Given the description of an element on the screen output the (x, y) to click on. 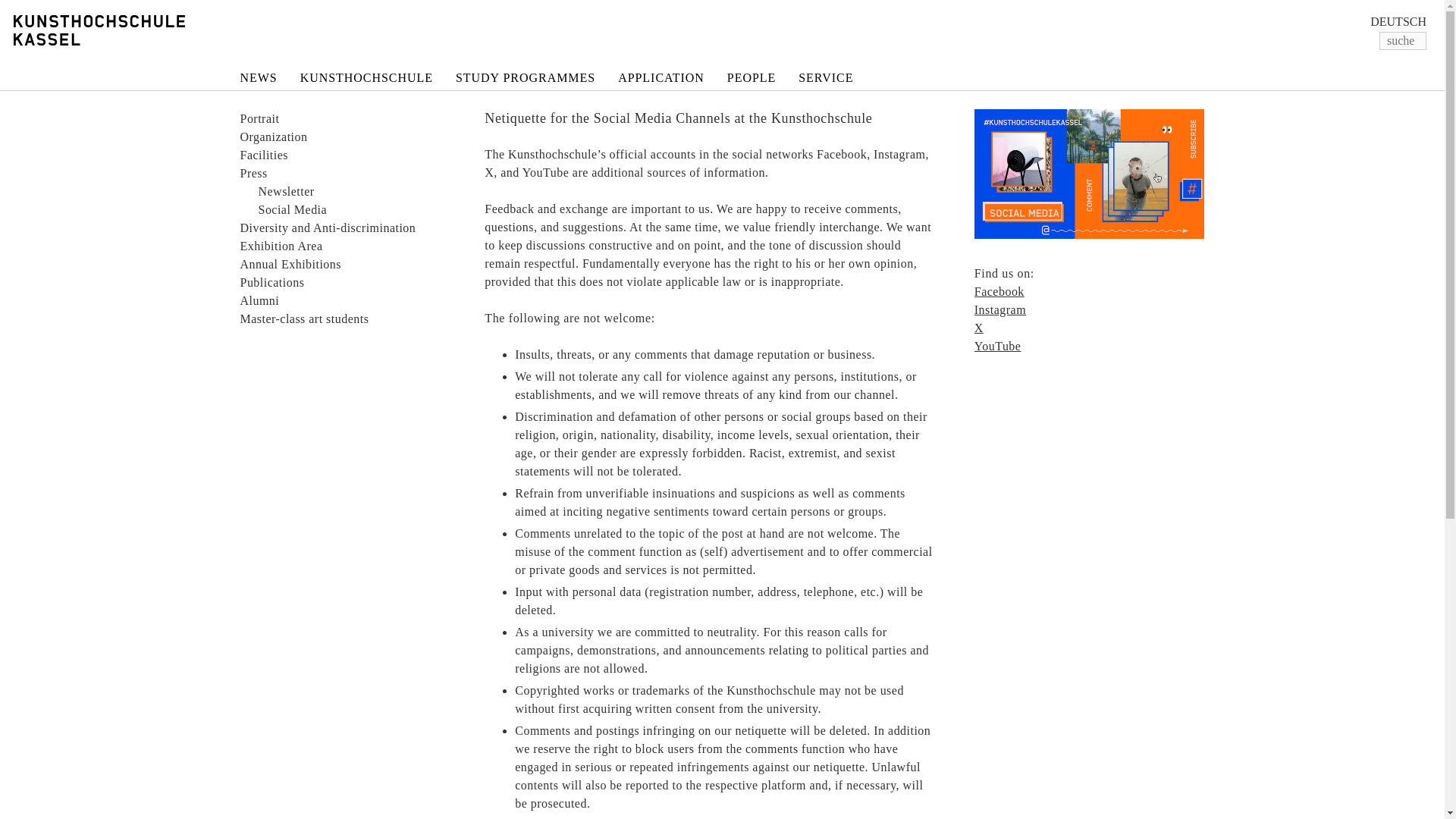
DEUTSCH (1398, 21)
Opens external link in new window (999, 291)
Opens external link in new window (1000, 309)
NEWS (258, 79)
KUNSTHOCHSCHULE (365, 79)
